Given the description of an element on the screen output the (x, y) to click on. 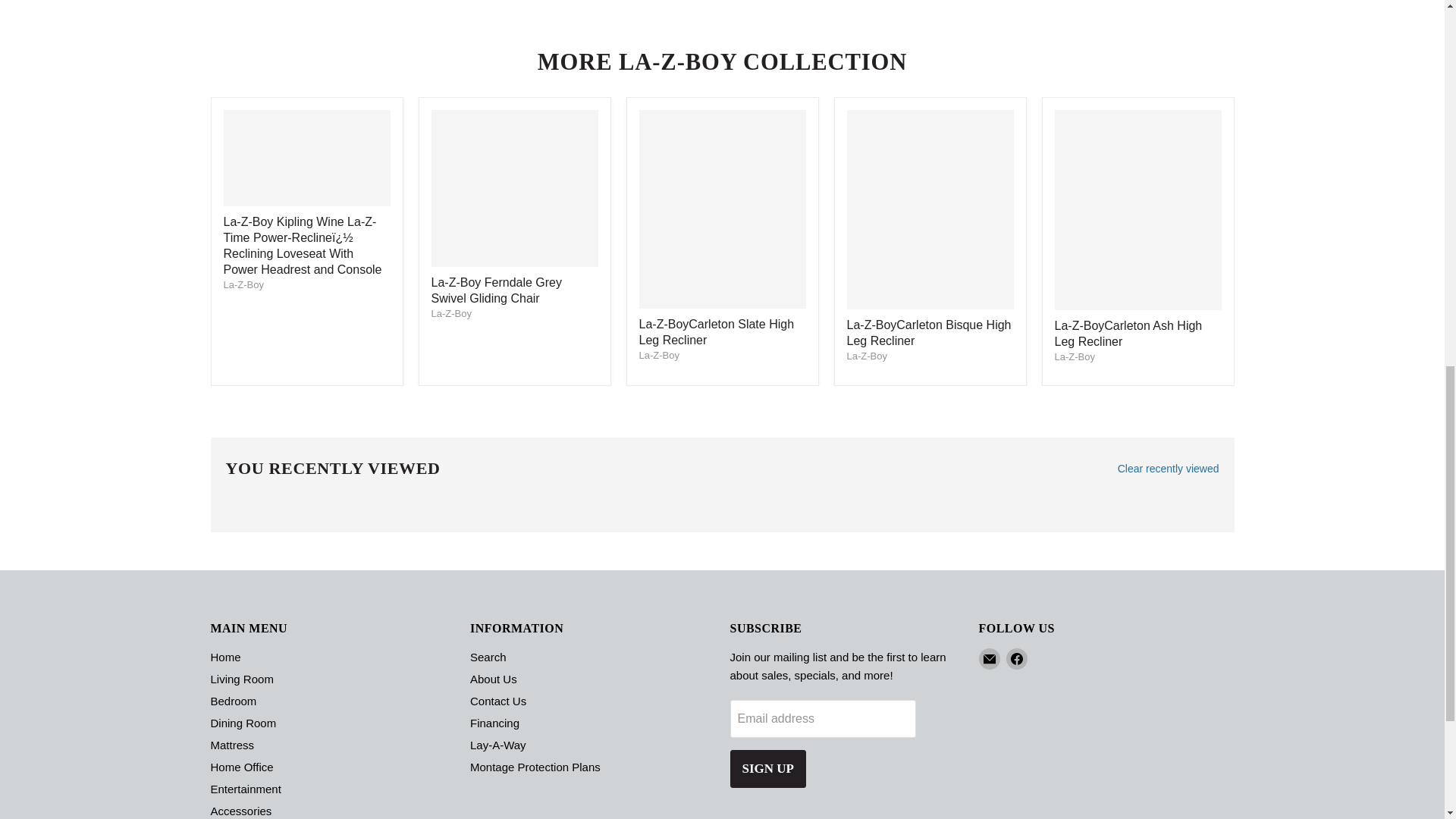
La-Z-Boy (242, 284)
La-Z-Boy (1074, 356)
La-Z-Boy (450, 313)
Facebook (1016, 658)
La-Z-Boy (658, 355)
Email (988, 658)
La-Z-Boy (865, 355)
